Given the description of an element on the screen output the (x, y) to click on. 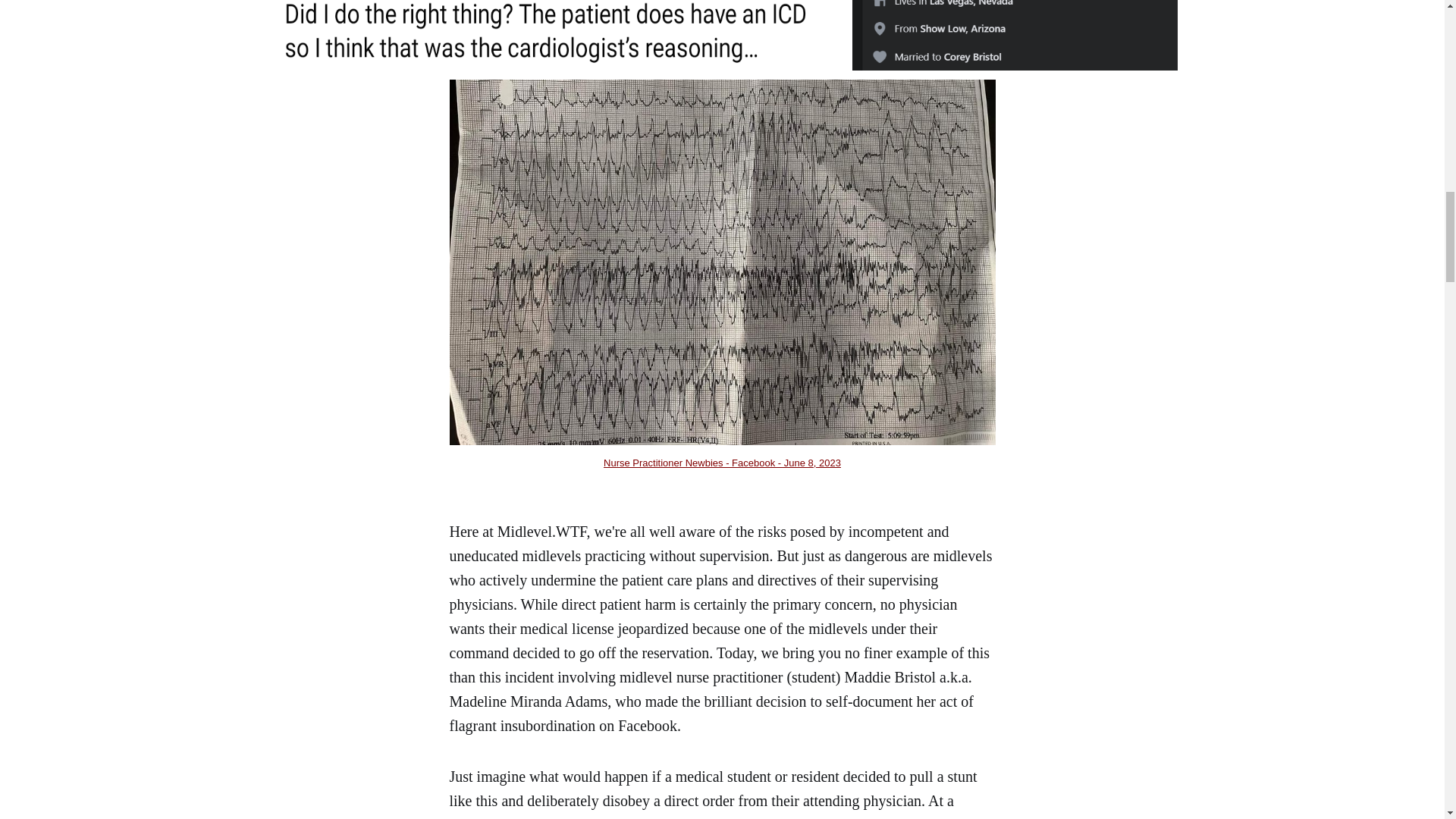
Nurse Practitioner Newbies - Facebook - June 8, 2023 (722, 462)
